Given the description of an element on the screen output the (x, y) to click on. 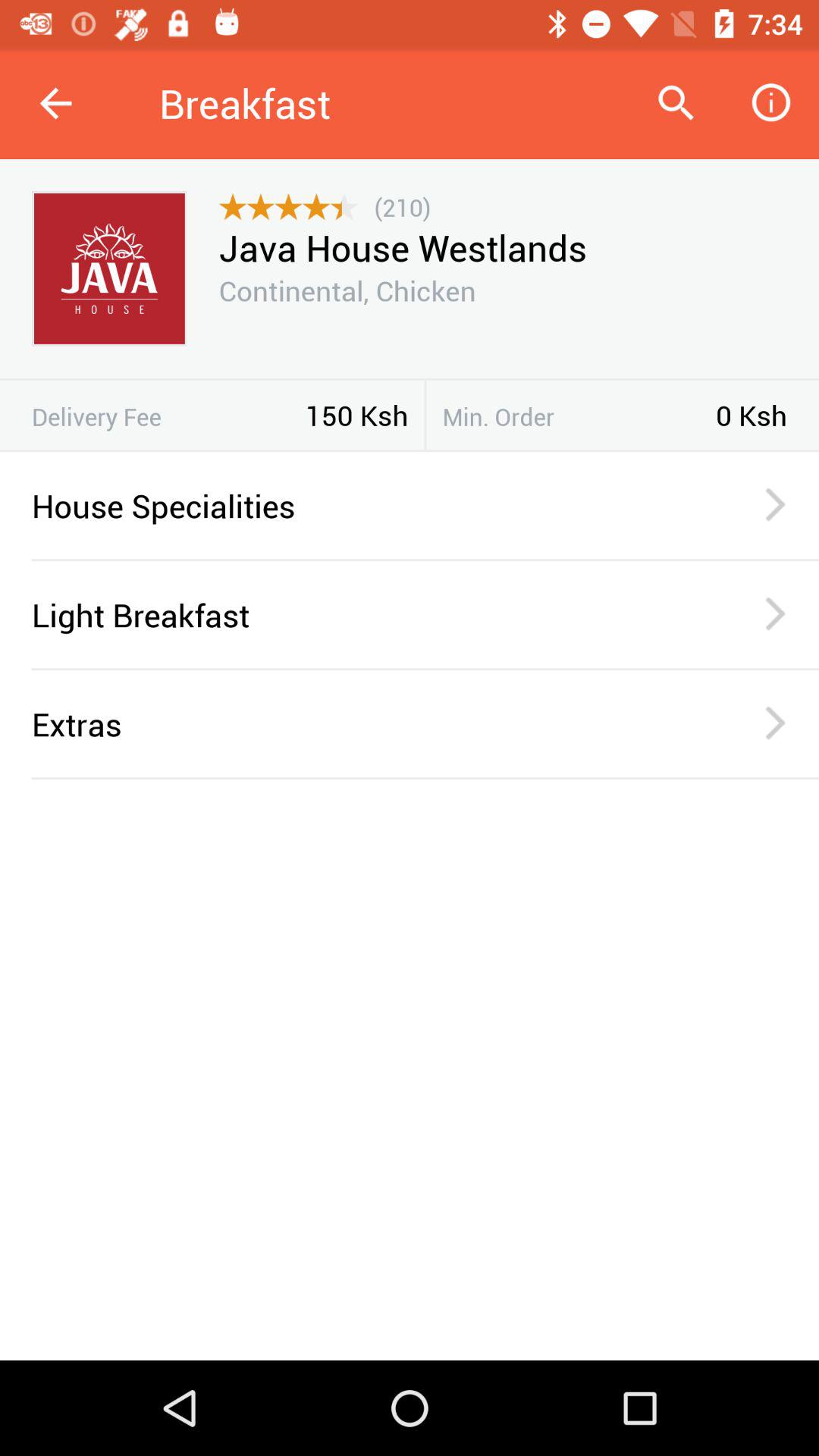
press the icon below 150 ksh icon (409, 450)
